Given the description of an element on the screen output the (x, y) to click on. 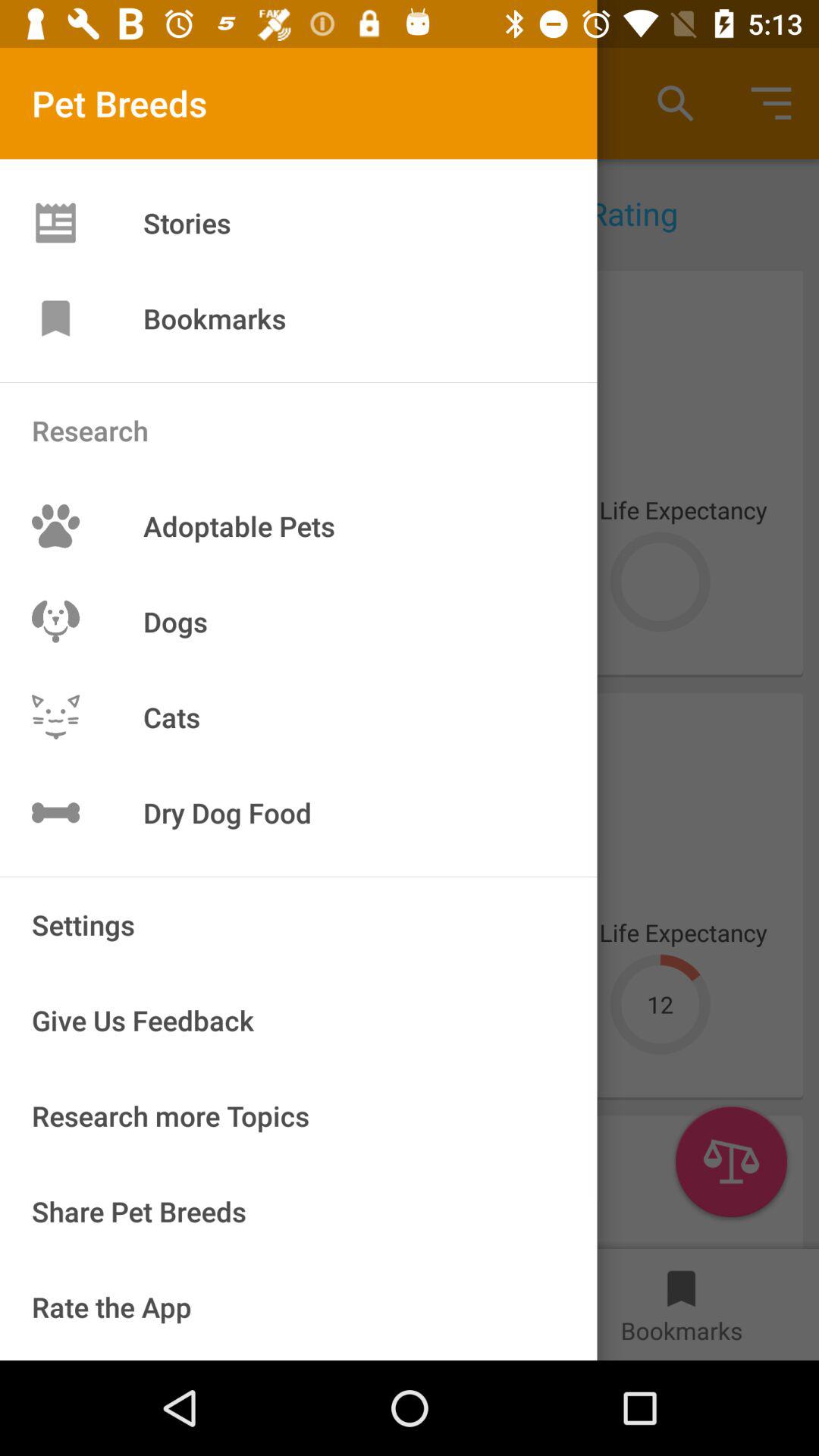
select the menu icon on the top right corner (771, 103)
click on the image which is left side of dry dog food (55, 812)
